Given the description of an element on the screen output the (x, y) to click on. 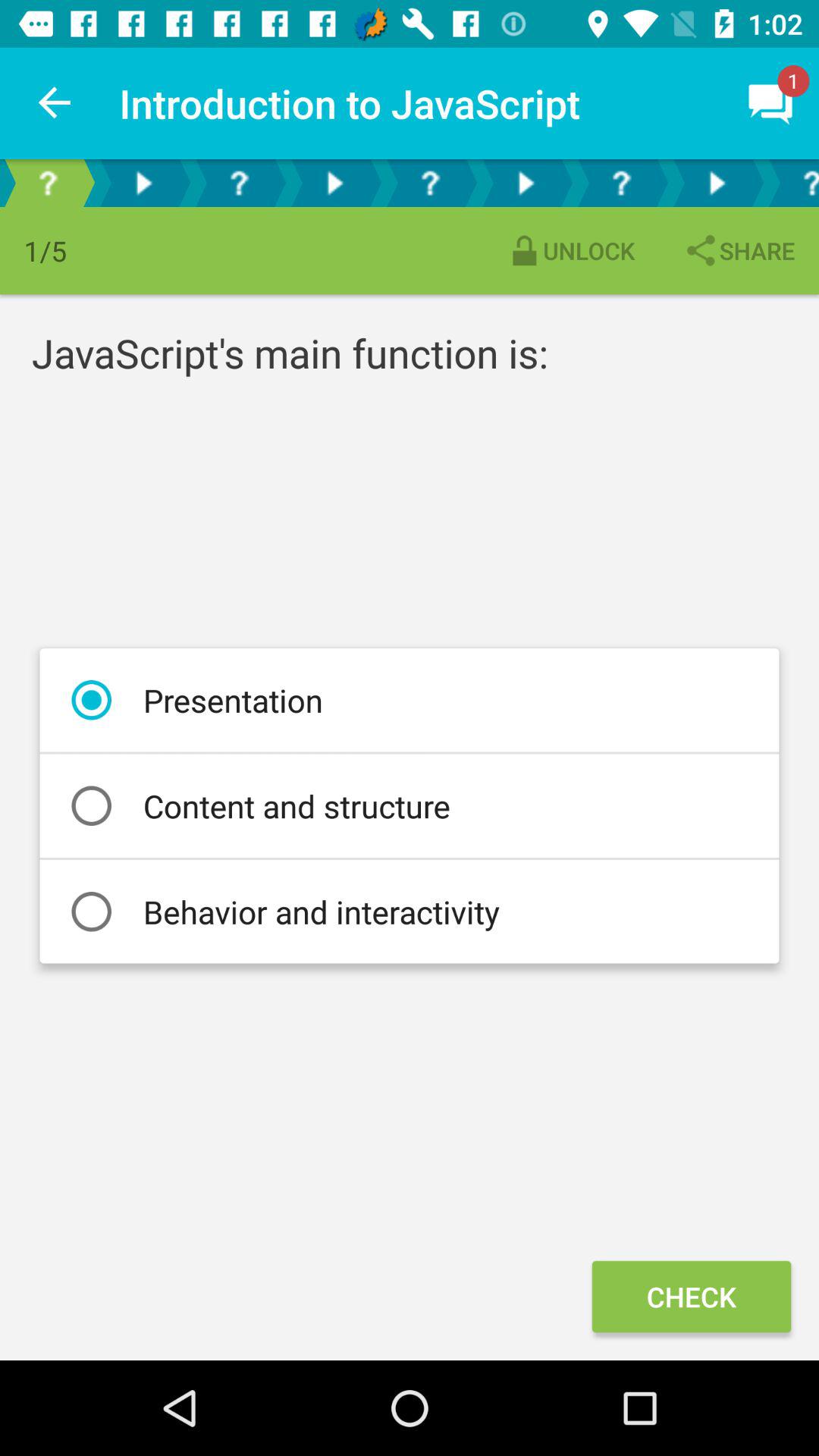
turn on icon to the left of introduction to javascript (55, 103)
